Given the description of an element on the screen output the (x, y) to click on. 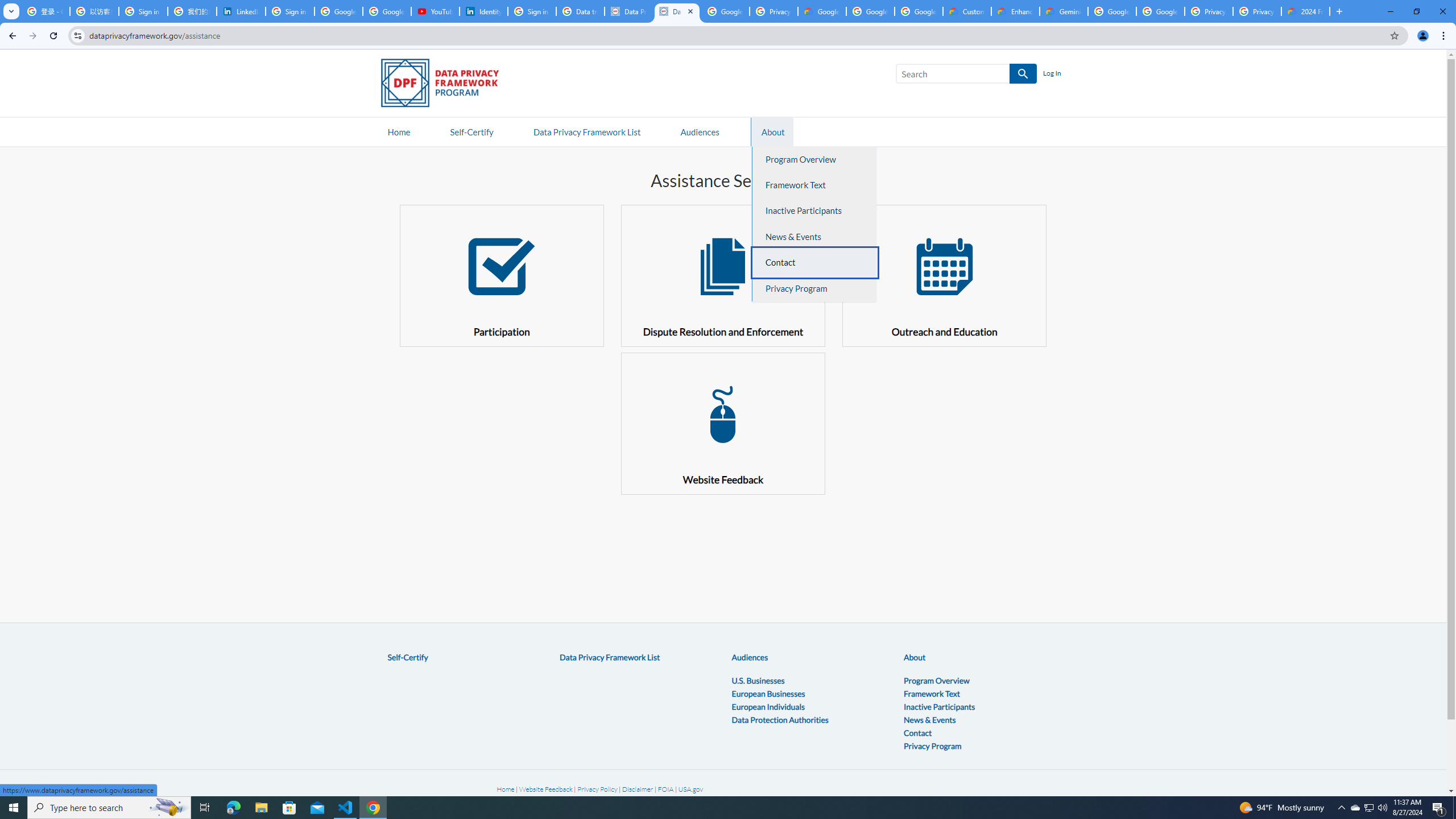
Data Privacy Framework List (610, 657)
